Given the description of an element on the screen output the (x, y) to click on. 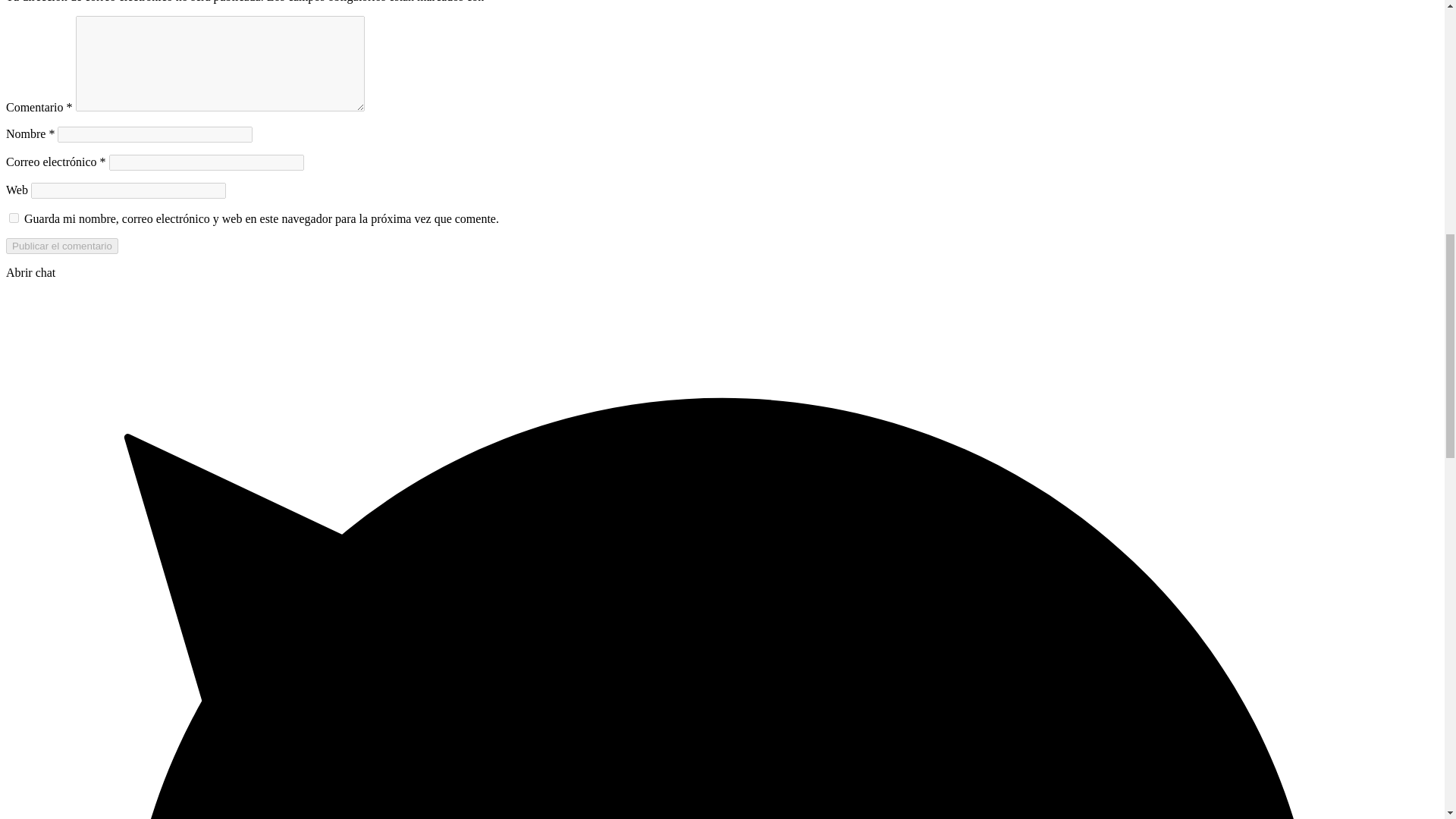
yes (13, 217)
Publicar el comentario (61, 245)
Publicar el comentario (61, 245)
